Given the description of an element on the screen output the (x, y) to click on. 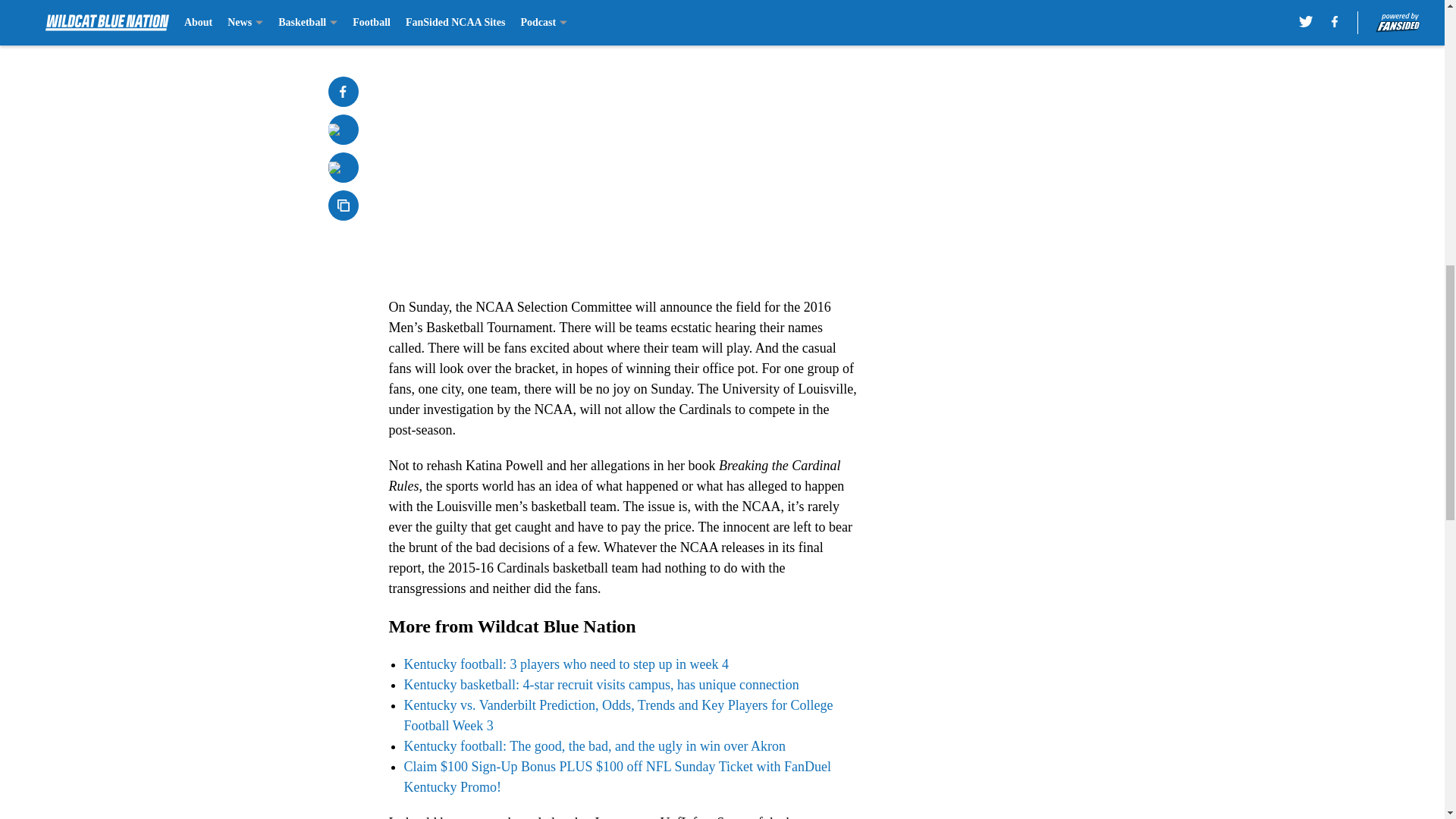
Kentucky football: 3 players who need to step up in week 4 (565, 663)
